Given the description of an element on the screen output the (x, y) to click on. 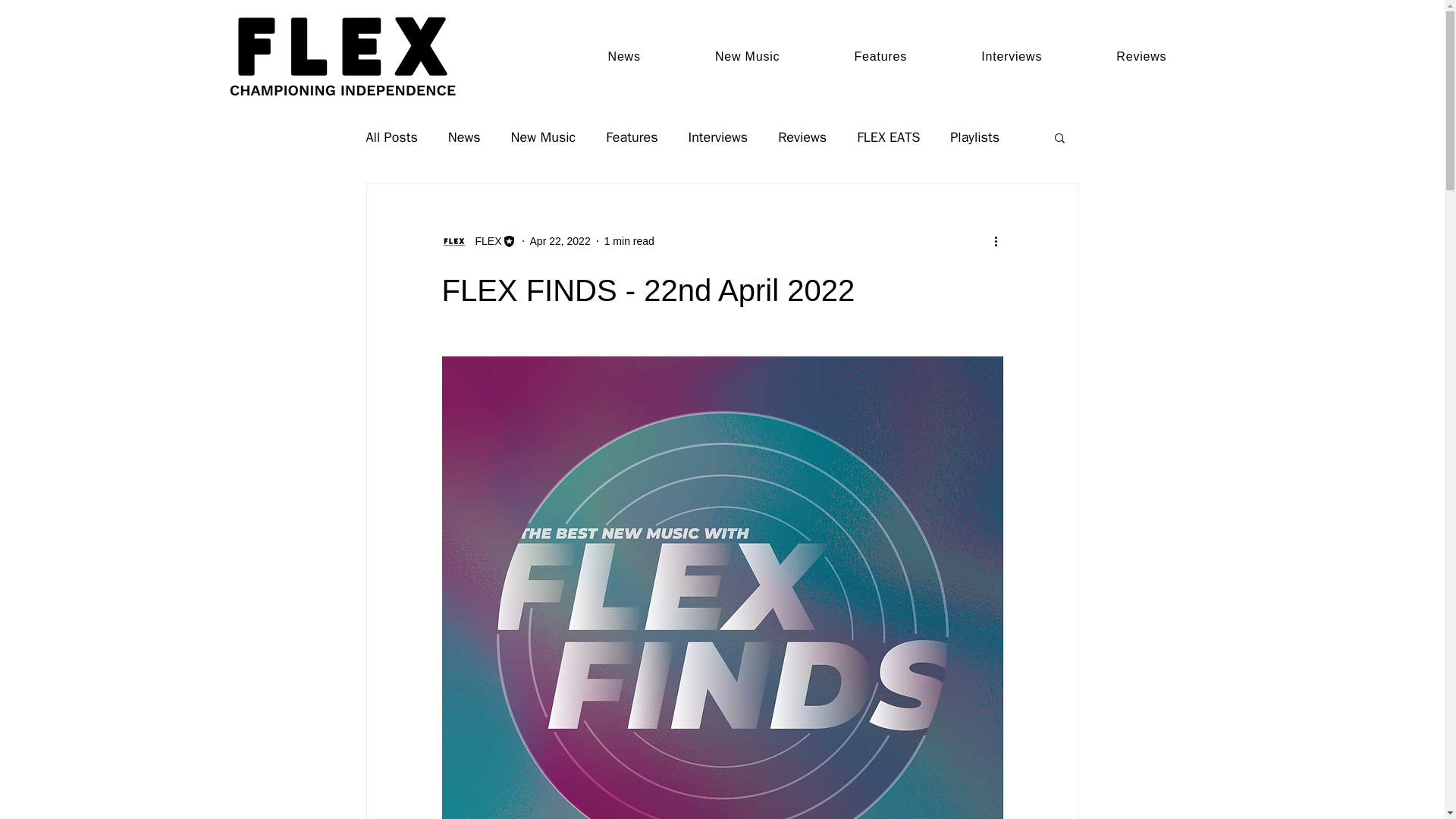
Features (879, 56)
New Music (543, 136)
Features (631, 136)
News (623, 56)
Interviews (1010, 56)
FLEX (482, 241)
All Posts (390, 136)
FLEX EATS (888, 136)
New Music (747, 56)
Playlists (974, 136)
